Given the description of an element on the screen output the (x, y) to click on. 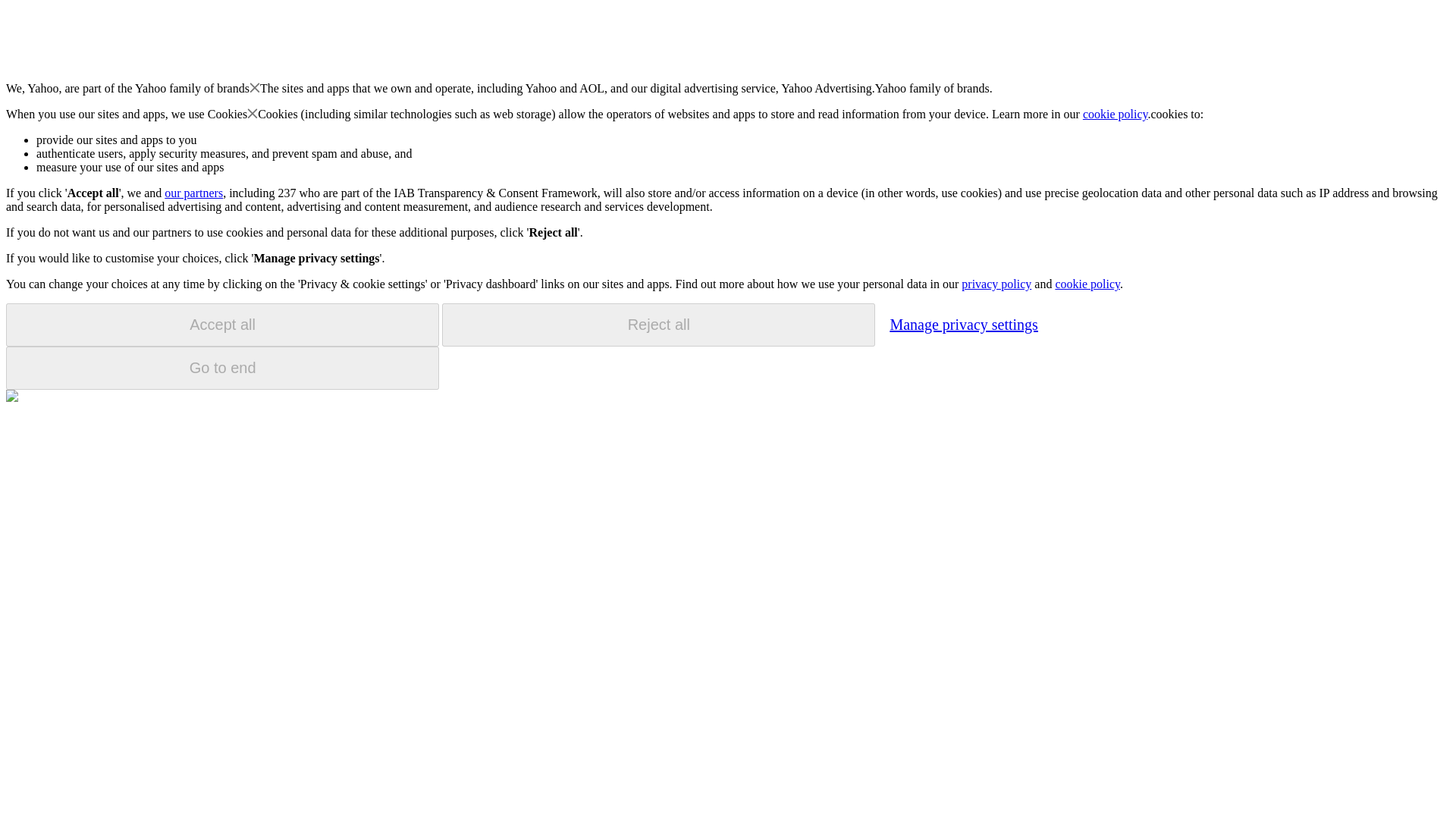
Reject all (658, 324)
our partners (193, 192)
Manage privacy settings (963, 323)
Go to end (222, 367)
cookie policy (1115, 113)
Accept all (222, 324)
cookie policy (1086, 283)
privacy policy (995, 283)
